Given the description of an element on the screen output the (x, y) to click on. 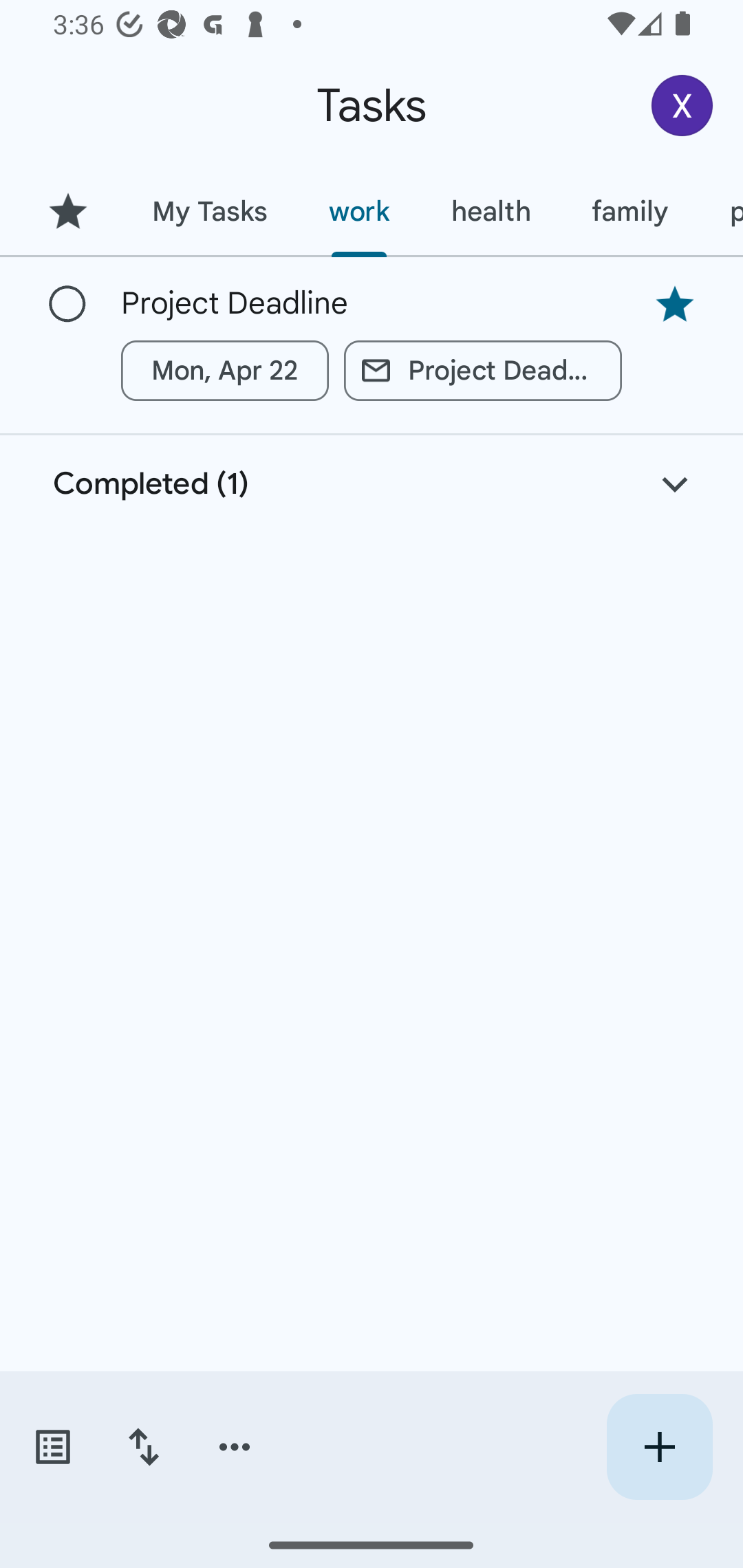
Starred (67, 211)
My Tasks (209, 211)
health (490, 211)
family (629, 211)
Remove star (674, 303)
Mark as complete (67, 304)
Mon, Apr 22 (225, 369)
Project Deadline Related link (482, 369)
Completed (1) (371, 484)
Switch task lists (52, 1447)
Create new task (659, 1446)
Change sort order (143, 1446)
More options (234, 1446)
